Given the description of an element on the screen output the (x, y) to click on. 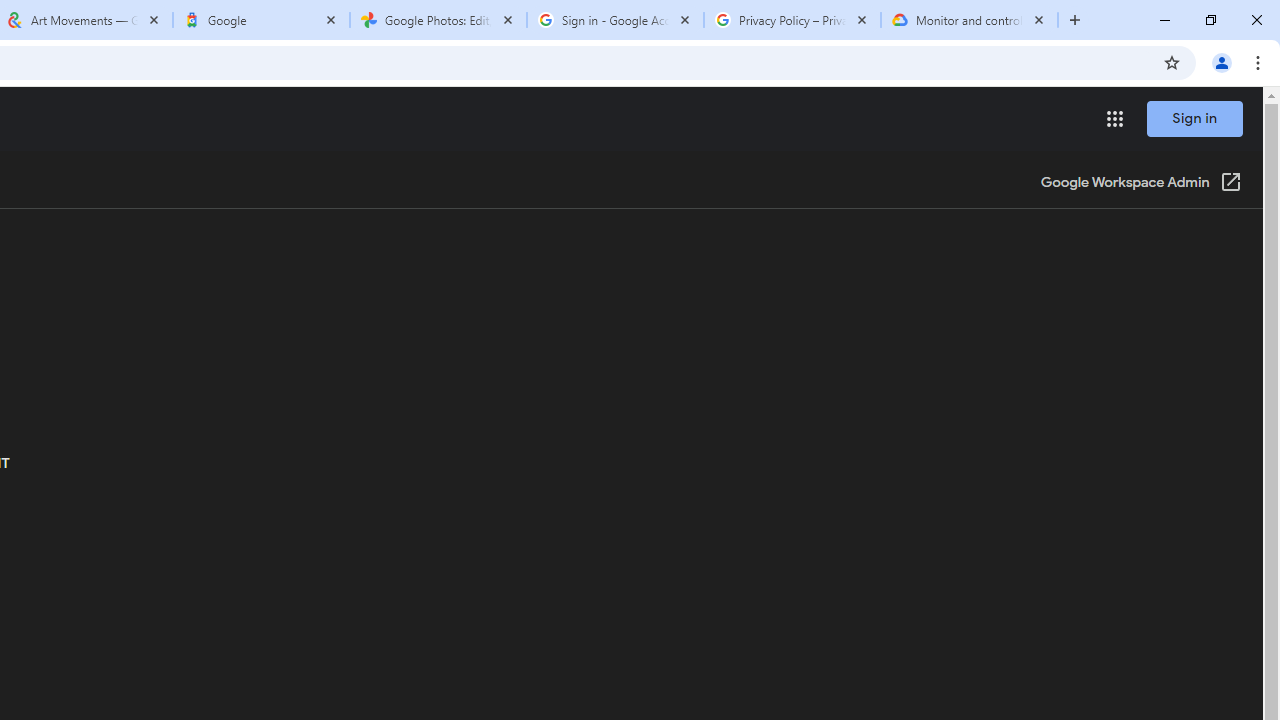
Google Workspace Admin (Open in a new window) (1140, 183)
Sign in - Google Accounts (615, 20)
Google (260, 20)
